Given the description of an element on the screen output the (x, y) to click on. 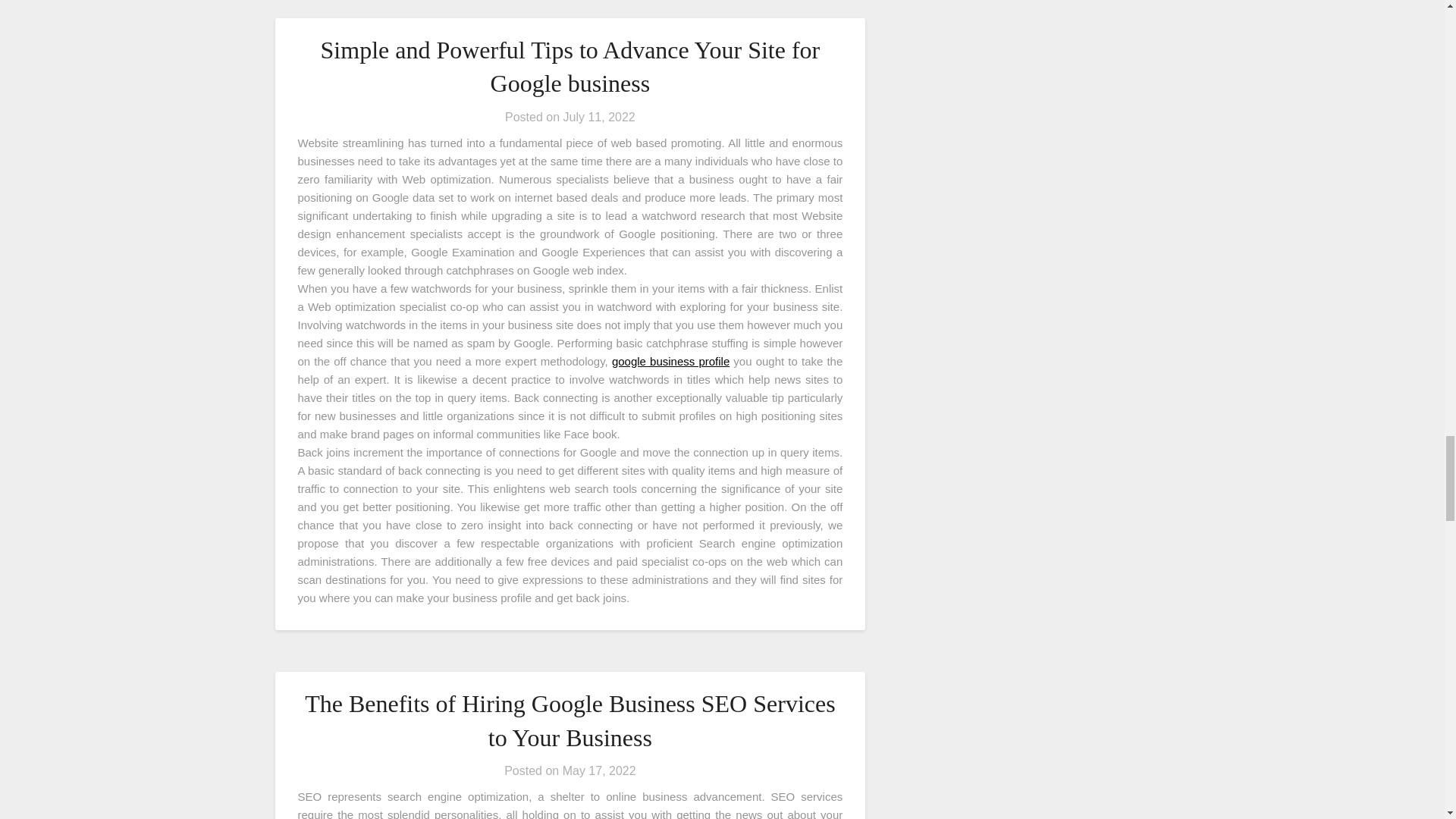
google business profile (670, 360)
July 11, 2022 (598, 116)
May 17, 2022 (599, 770)
